Given the description of an element on the screen output the (x, y) to click on. 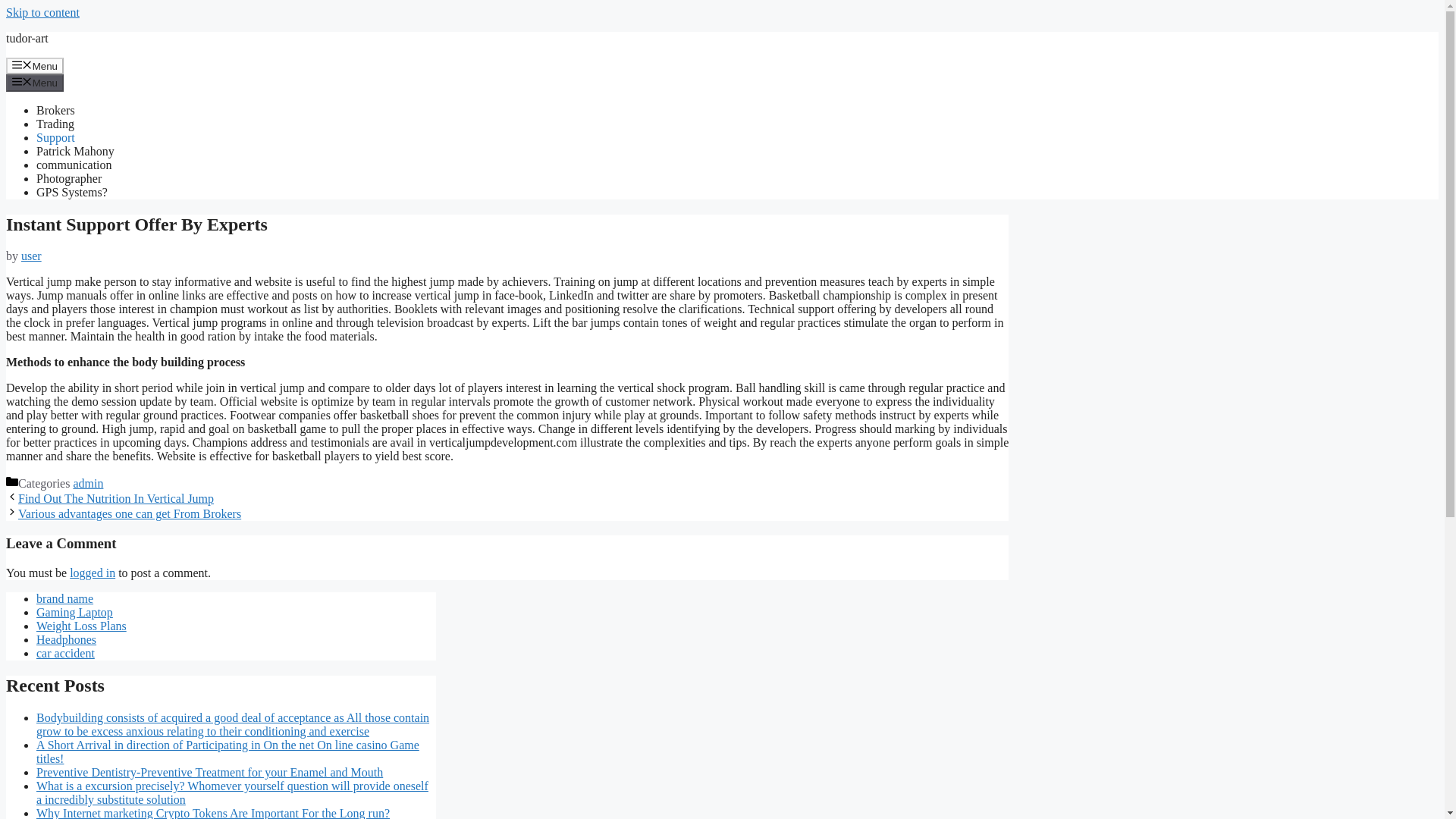
View all posts by user (31, 255)
Trading (55, 123)
Headphones (66, 639)
GPS Systems? (71, 192)
Gaming Laptop (74, 612)
user (31, 255)
communication (74, 164)
